Given the description of an element on the screen output the (x, y) to click on. 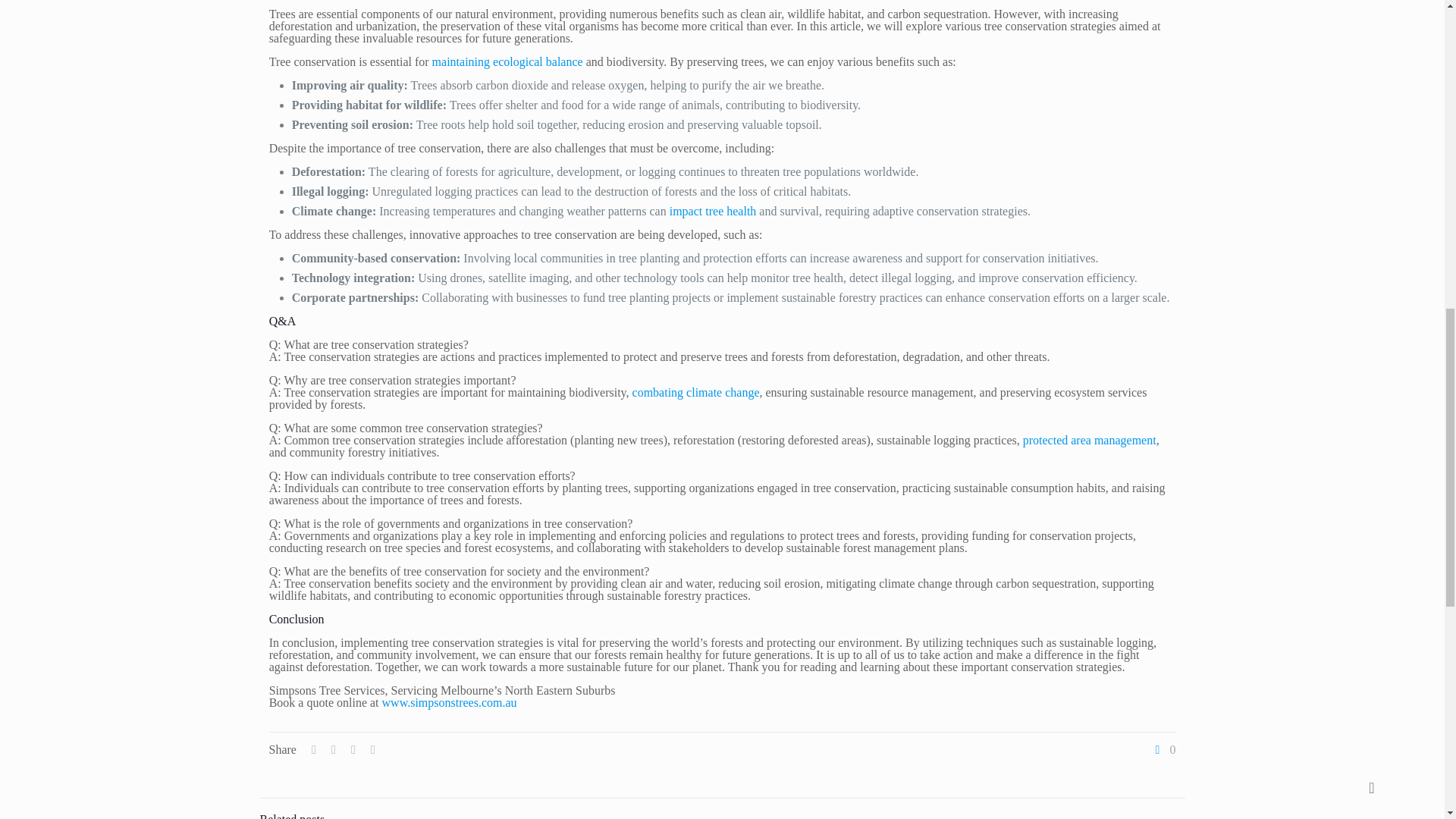
maintaining ecological balance (507, 61)
Tree Council Permits and Environmental Protection (1089, 440)
www.simpsonstrees.com.au (448, 702)
Tree Planting Ceremonies and Rituals (507, 61)
Tree-Related Community Projects (695, 391)
protected area management (1089, 440)
combating climate change (695, 391)
Arborist Reports (713, 210)
0 (1162, 749)
